Given the description of an element on the screen output the (x, y) to click on. 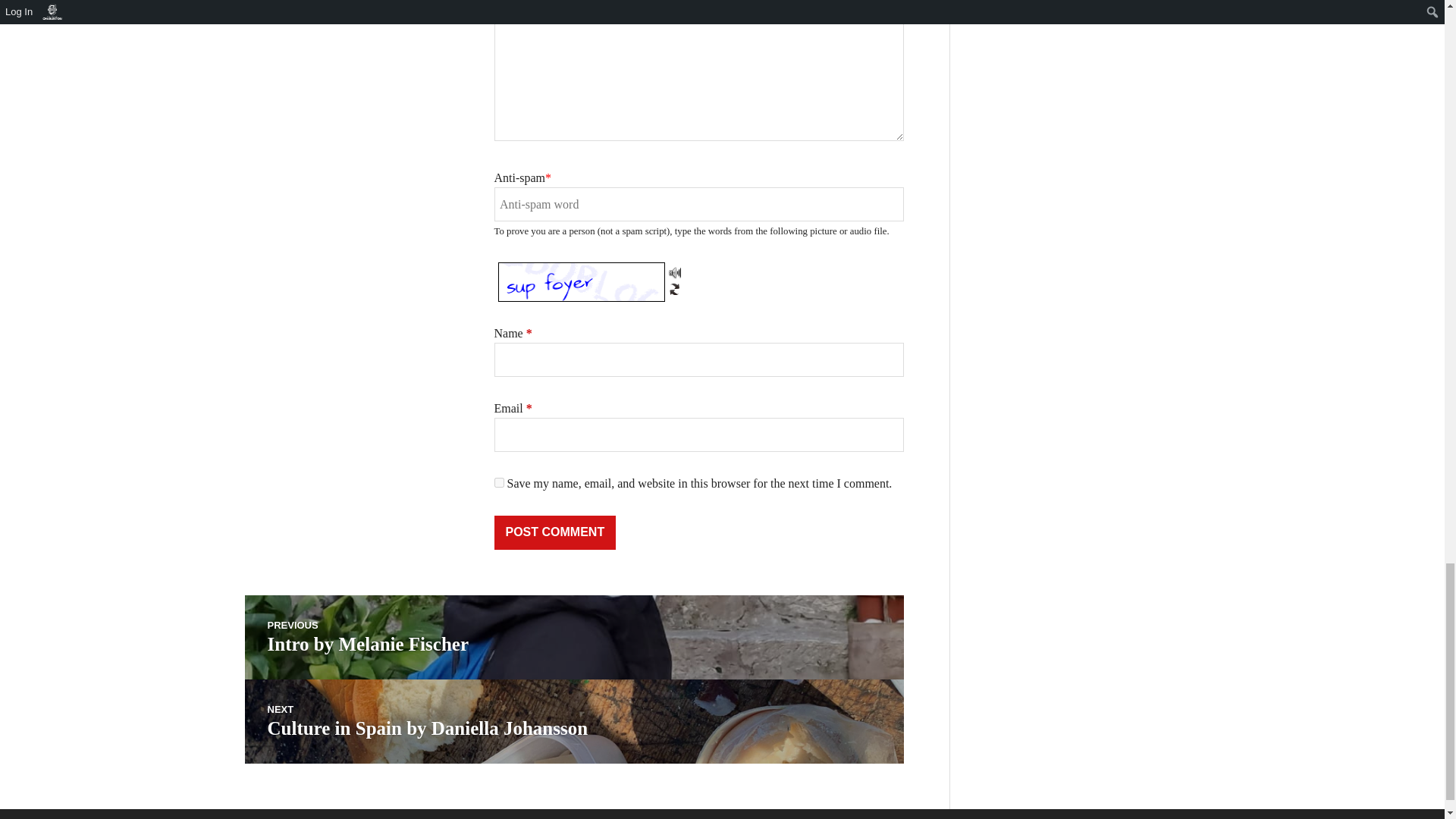
Post Comment (573, 637)
yes (555, 532)
Load new (499, 482)
Listen (674, 287)
Post Comment (573, 721)
